Given the description of an element on the screen output the (x, y) to click on. 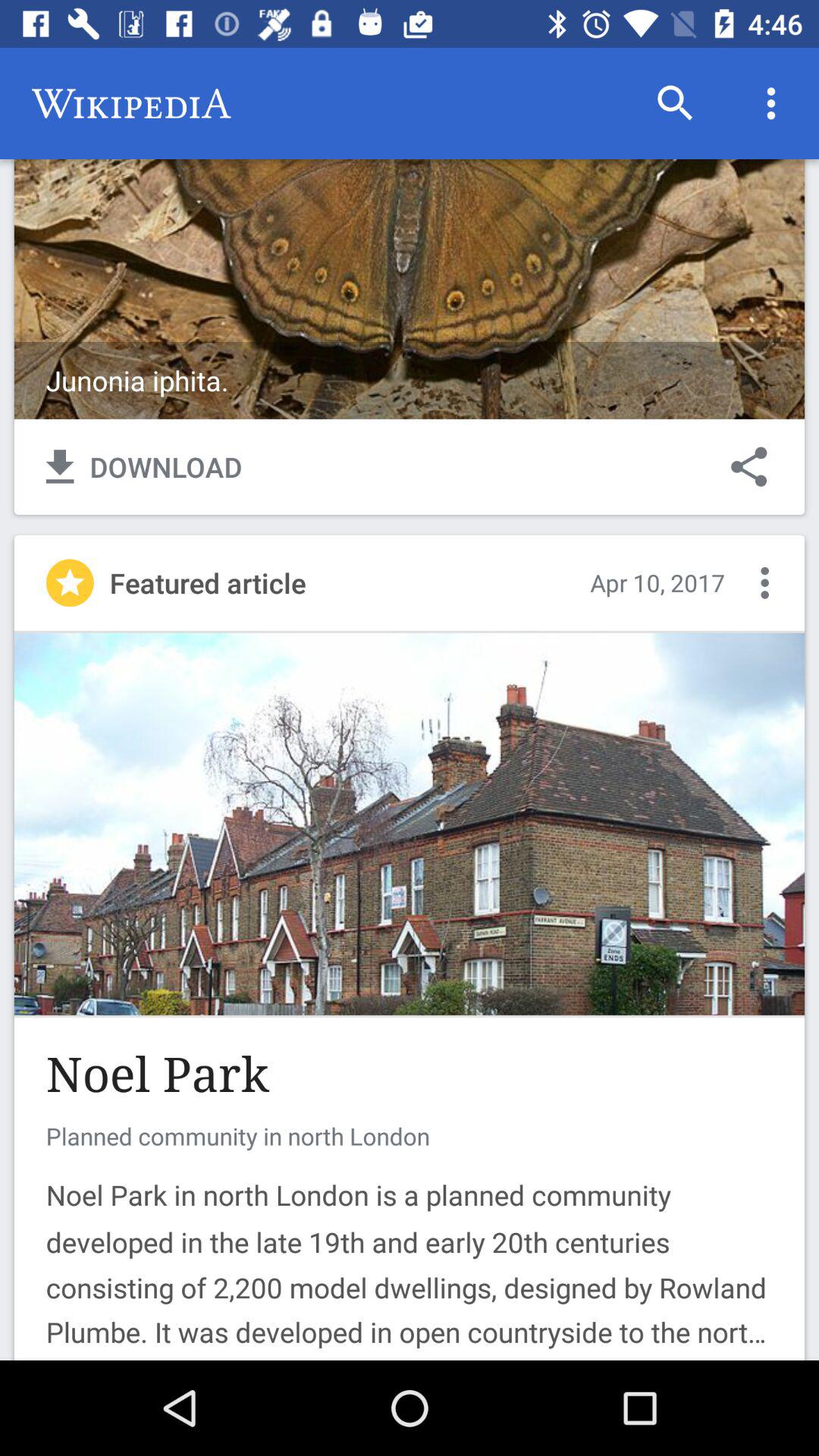
turn off icon above the junonia iphita. icon (771, 103)
